Given the description of an element on the screen output the (x, y) to click on. 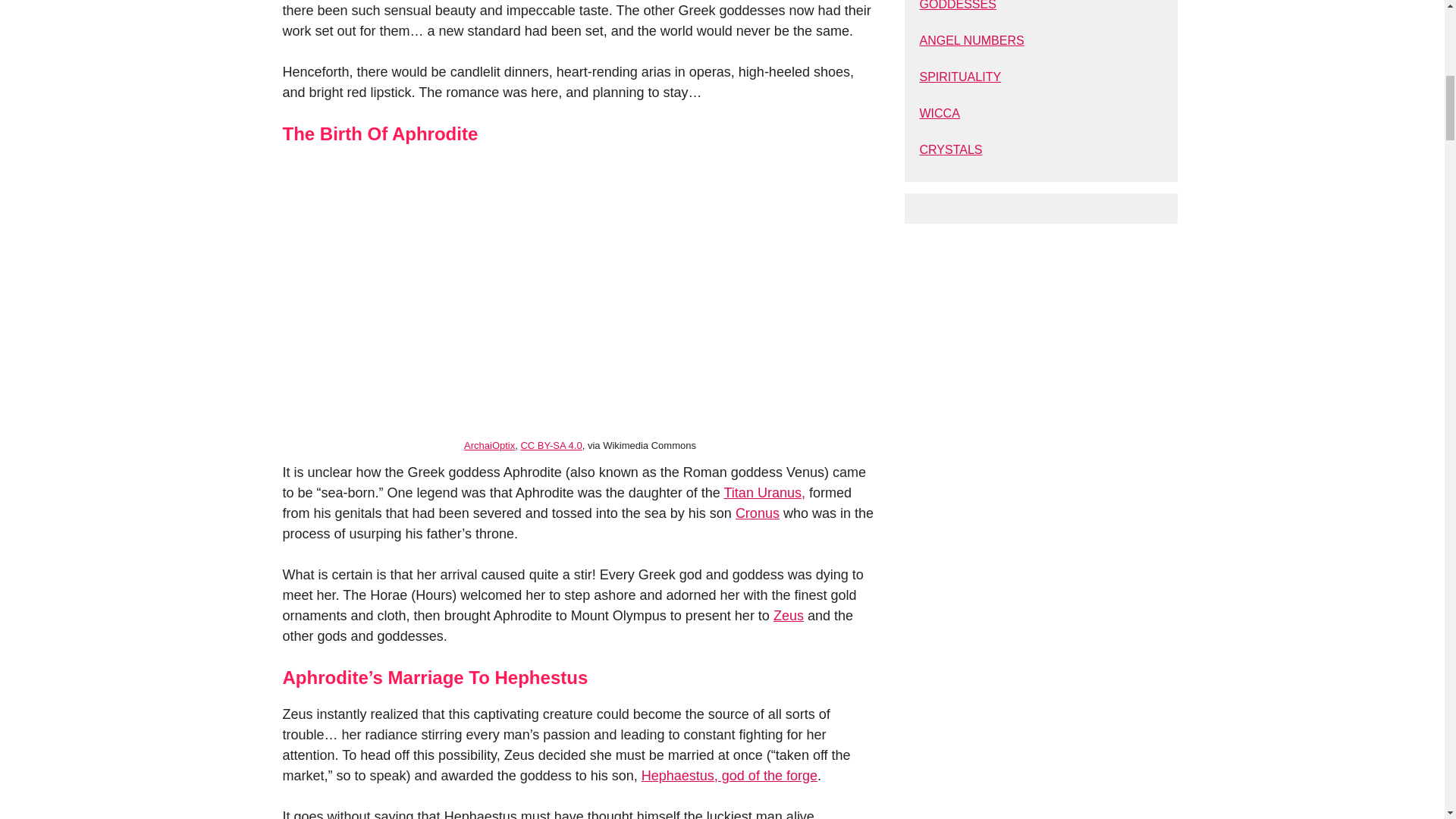
Scroll back to top (1406, 720)
